Given the description of an element on the screen output the (x, y) to click on. 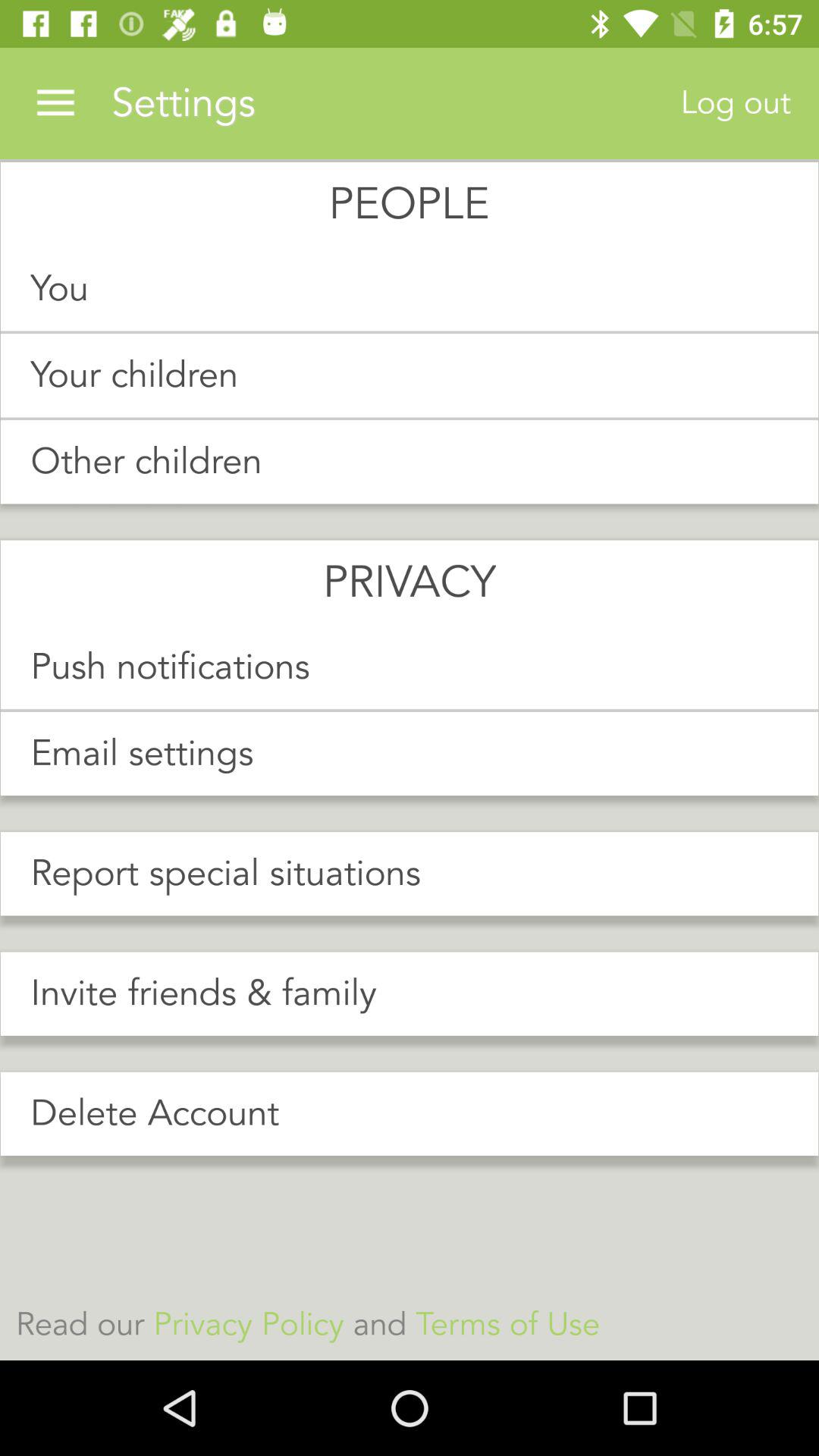
click the item above you item (735, 102)
